Given the description of an element on the screen output the (x, y) to click on. 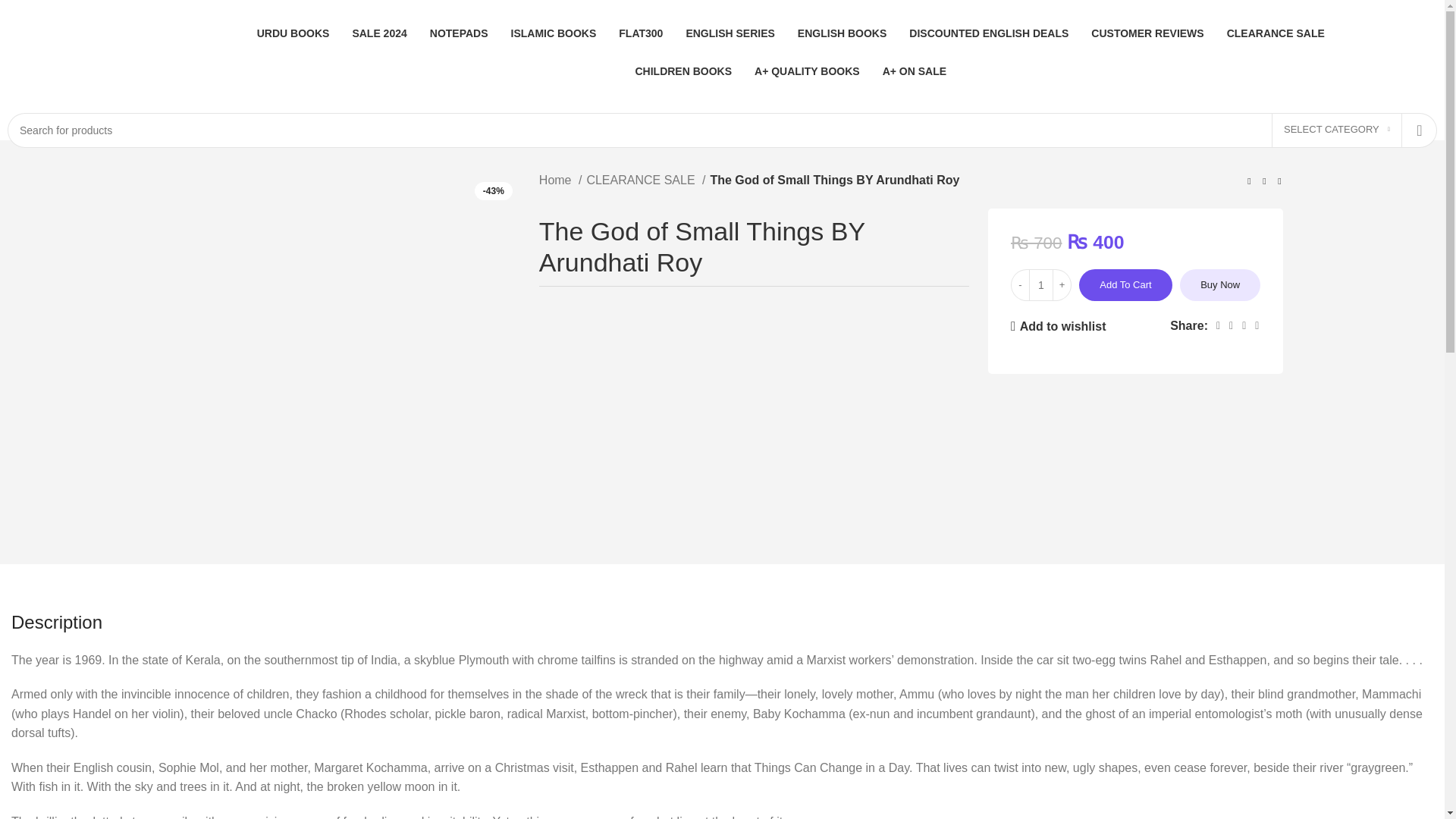
SALE 2024 (379, 33)
CHILDREN BOOKS (683, 71)
CLEARANCE SALE (1275, 33)
ENGLISH SERIES (729, 33)
ENGLISH BOOKS (841, 33)
CLEARANCE SALE (645, 180)
ISLAMIC BOOKS (553, 33)
CUSTOMER REVIEWS (1147, 33)
SELECT CATEGORY (1336, 130)
Home (560, 180)
Search (1419, 130)
SELECT CATEGORY (1336, 130)
NOTEPADS (458, 33)
Search for products (722, 130)
DISCOUNTED ENGLISH DEALS (988, 33)
